Given the description of an element on the screen output the (x, y) to click on. 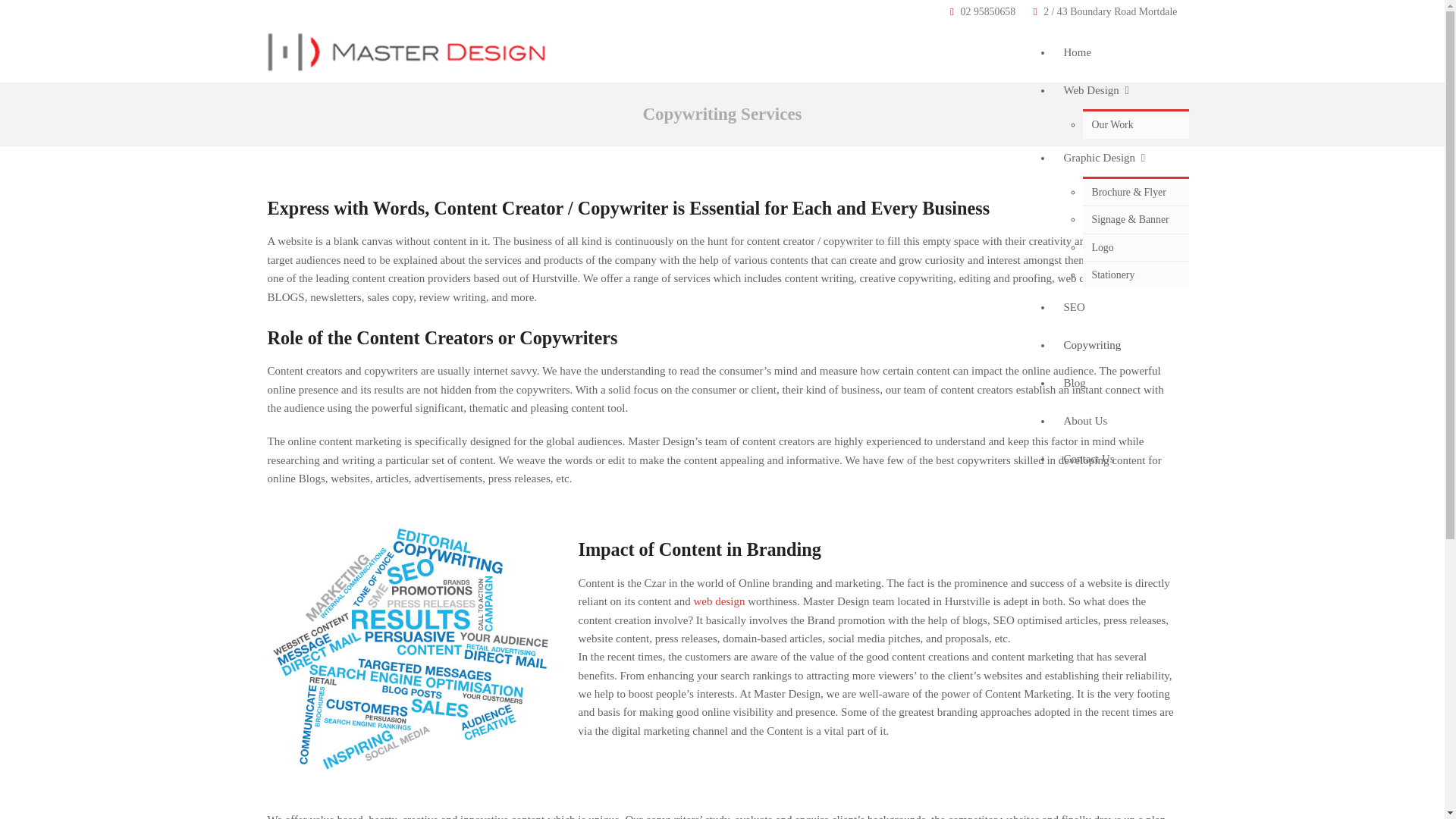
Web Design (1120, 89)
SEO (1120, 306)
Blog (1120, 382)
Contact Us (1120, 458)
Home (1120, 52)
Graphic Design (1120, 157)
About Us (1120, 420)
copywriter (410, 648)
Copywriting (1120, 344)
Logo (1136, 247)
02 95850658 (988, 11)
Stationery (1136, 274)
Our Work (1136, 124)
web design (719, 601)
